Given the description of an element on the screen output the (x, y) to click on. 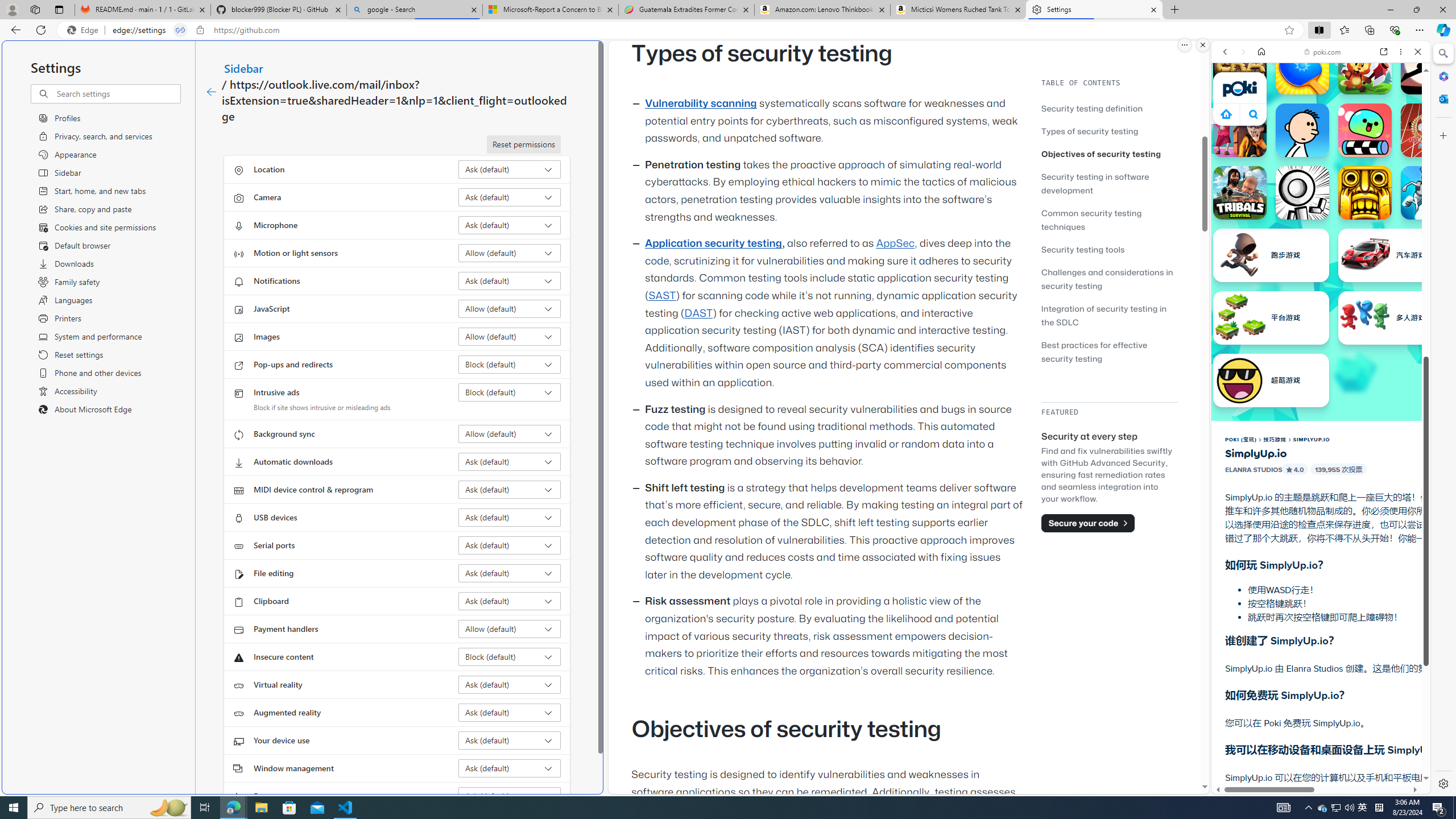
Shooting Games (1320, 295)
Hills of Steel Hills of Steel poki.com (1264, 548)
MIDI device control & reprogram Ask (default) (509, 489)
Notifications Ask (default) (509, 280)
Integration of security testing in the SDLC (1104, 314)
Combat Reloaded (1349, 523)
SUBWAY SURFERS - Play Online for Free! | Poki (1315, 765)
100 Metres Race 100 Metres Race (1427, 130)
Crazy Cars (1419, 574)
Ping Pong Go! Ping Pong Go! (1302, 67)
Combat Reloaded Combat Reloaded poki.com (1349, 548)
